Given the description of an element on the screen output the (x, y) to click on. 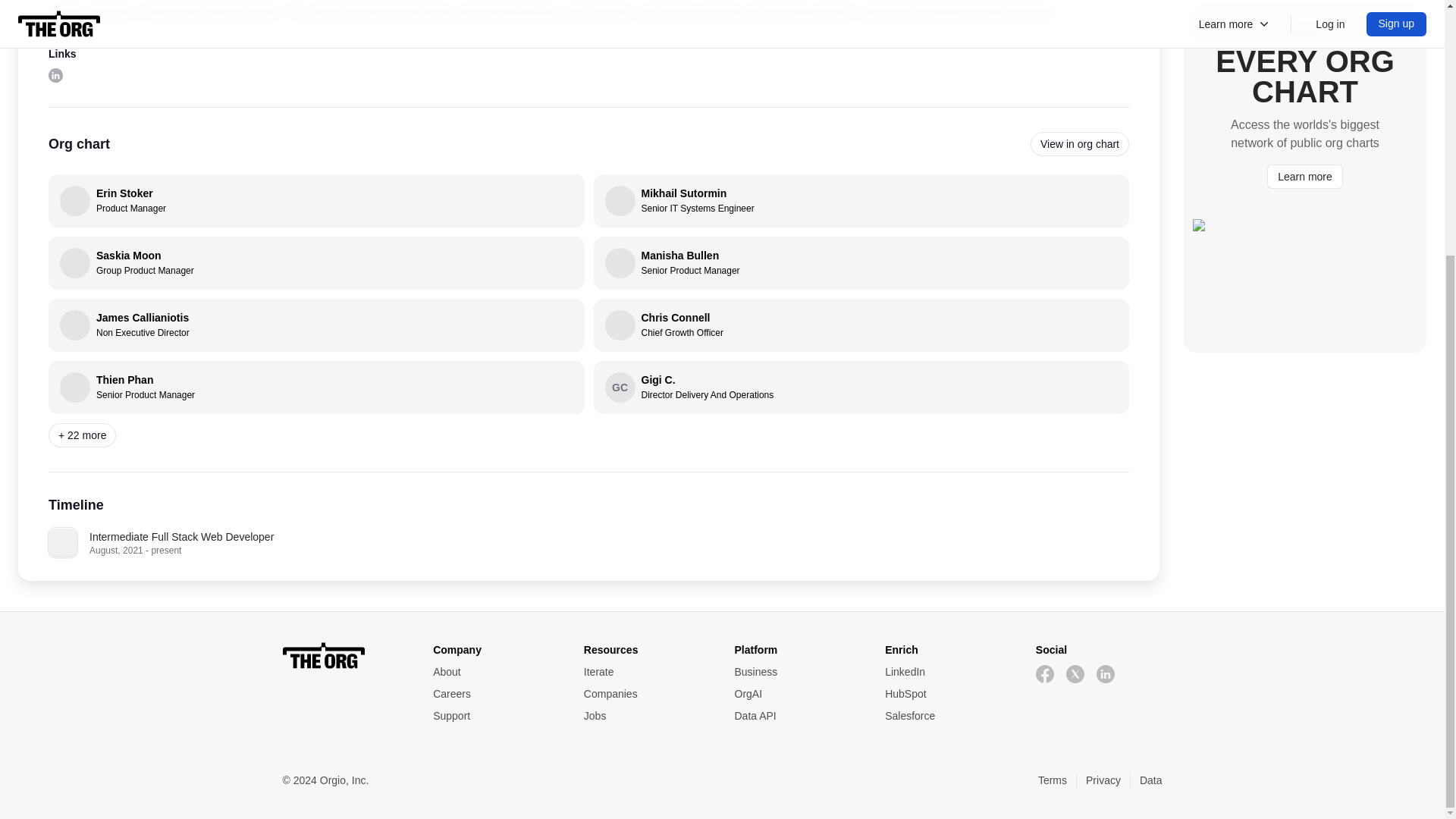
OrgAI (316, 387)
Business (796, 693)
Iterate (316, 262)
Jobs (796, 672)
Jobs (646, 672)
Data API (646, 715)
LinkedIn (646, 715)
View on linkedIn (796, 715)
Business (948, 672)
Facebook (55, 74)
Salesforce (860, 325)
